Given the description of an element on the screen output the (x, y) to click on. 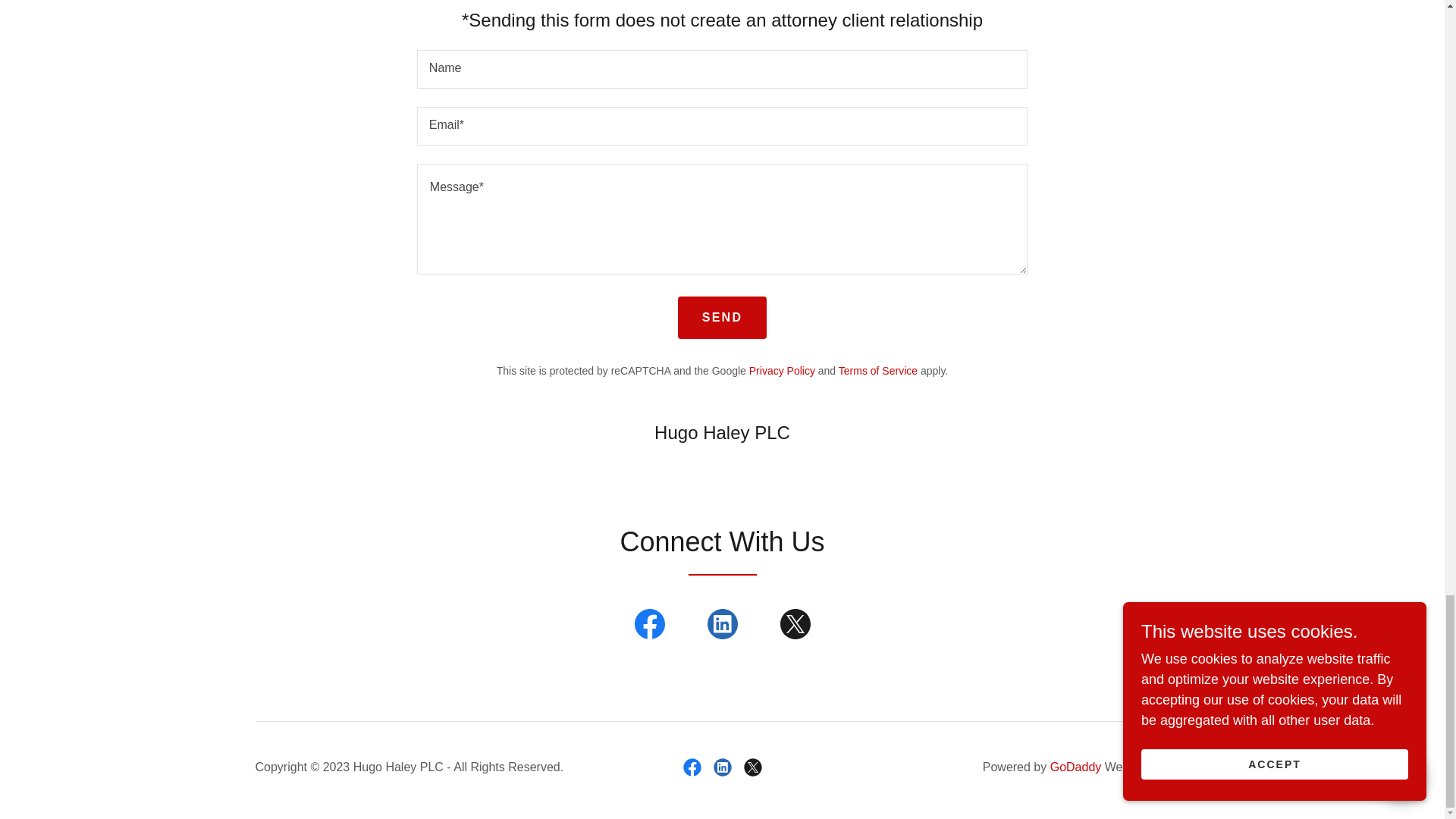
Terms of Service (877, 370)
Privacy Policy (782, 370)
GoDaddy (1075, 766)
SEND (722, 317)
